Given the description of an element on the screen output the (x, y) to click on. 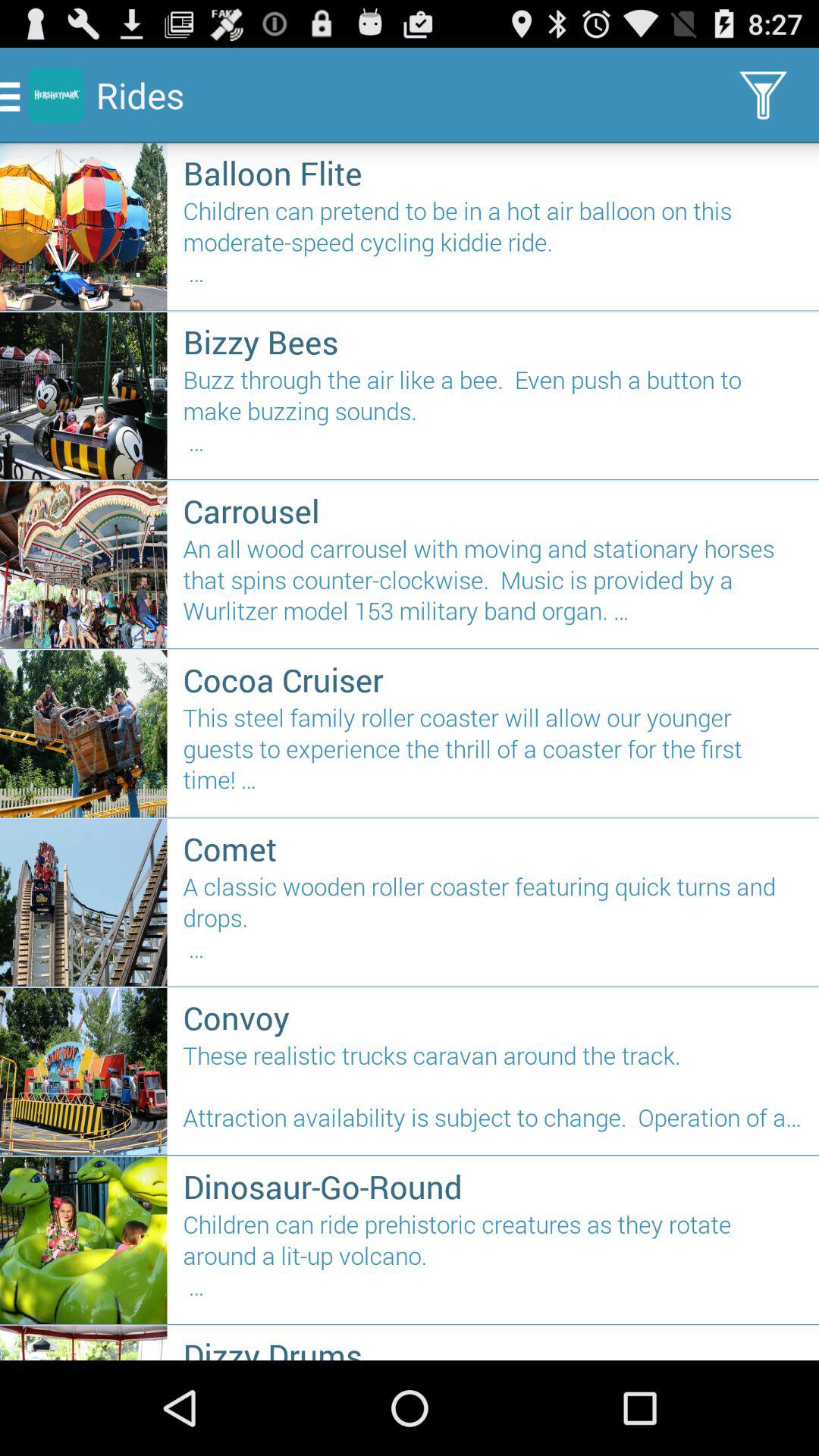
jump to cocoa cruiser item (493, 679)
